Given the description of an element on the screen output the (x, y) to click on. 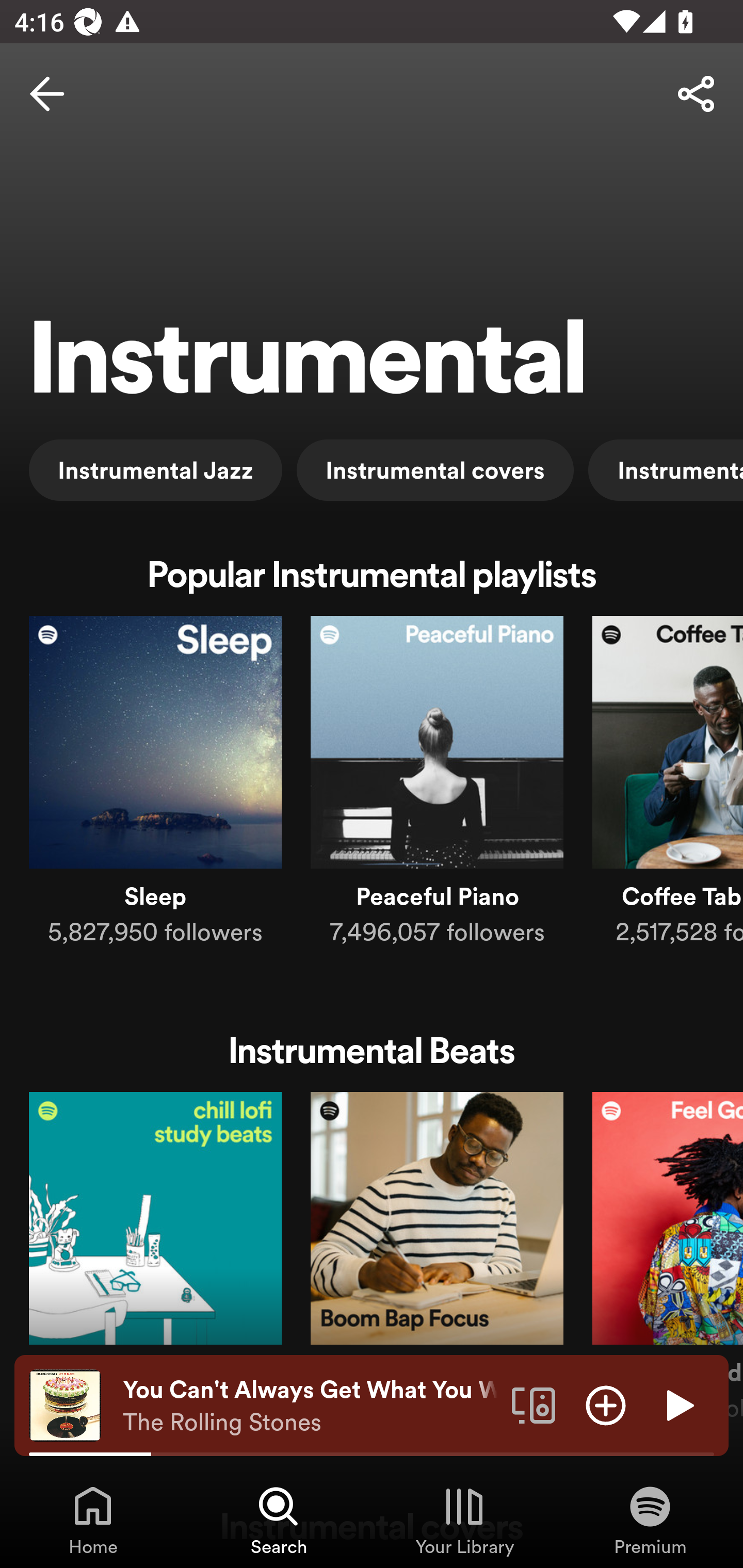
Back (46, 93)
Share Menu (695, 93)
Instrumental Jazz (155, 469)
Instrumental covers (434, 469)
Instrumental Piano (665, 469)
The cover art of the currently playing track (64, 1404)
Connect to a device. Opens the devices menu (533, 1404)
Add item (605, 1404)
Play (677, 1404)
Home, Tab 1 of 4 Home Home (92, 1519)
Search, Tab 2 of 4 Search Search (278, 1519)
Your Library, Tab 3 of 4 Your Library Your Library (464, 1519)
Premium, Tab 4 of 4 Premium Premium (650, 1519)
